Given the description of an element on the screen output the (x, y) to click on. 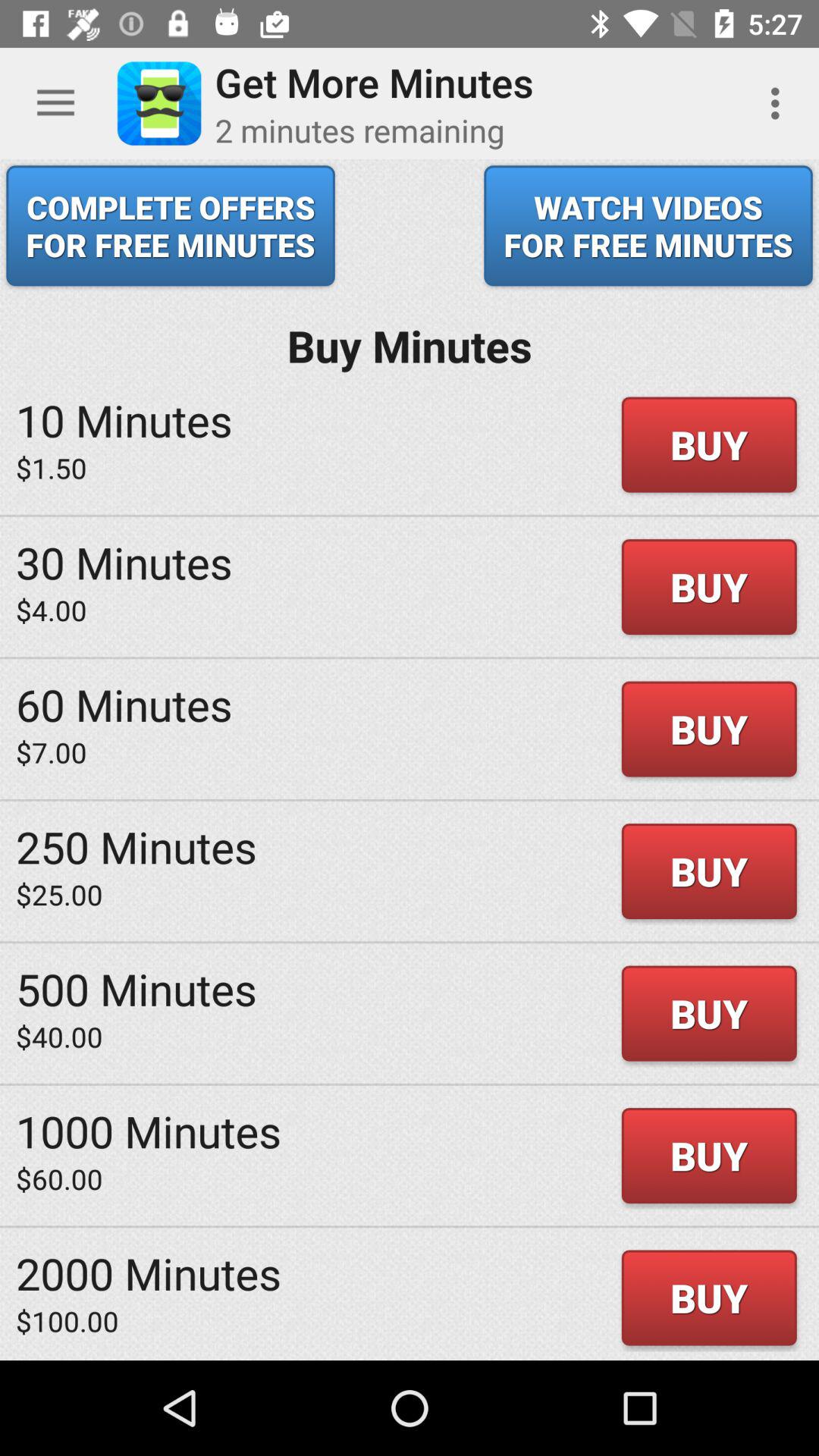
turn off icon to the left of the buy icon (123, 704)
